Given the description of an element on the screen output the (x, y) to click on. 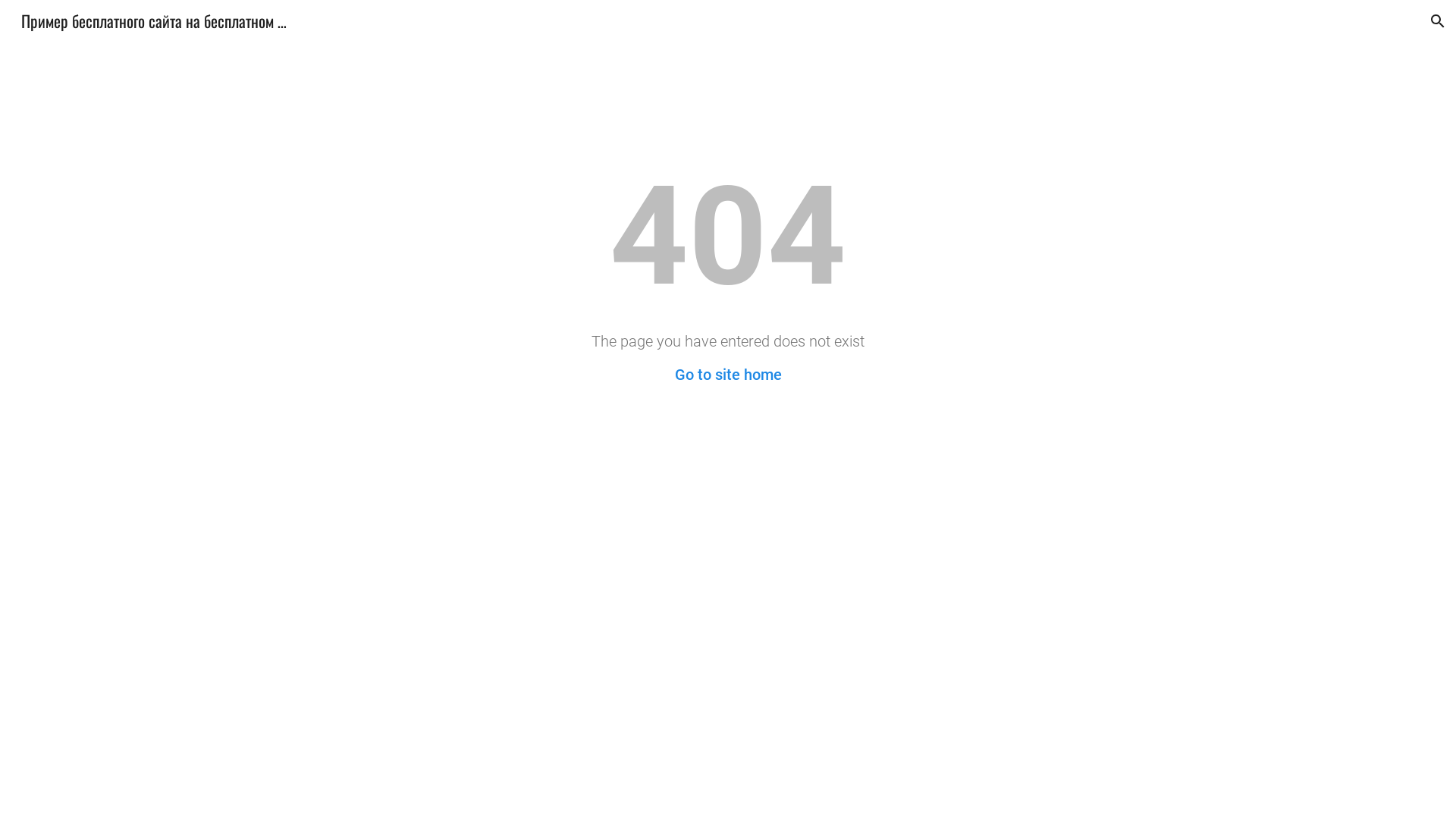
Go to site home Element type: text (727, 374)
